Given the description of an element on the screen output the (x, y) to click on. 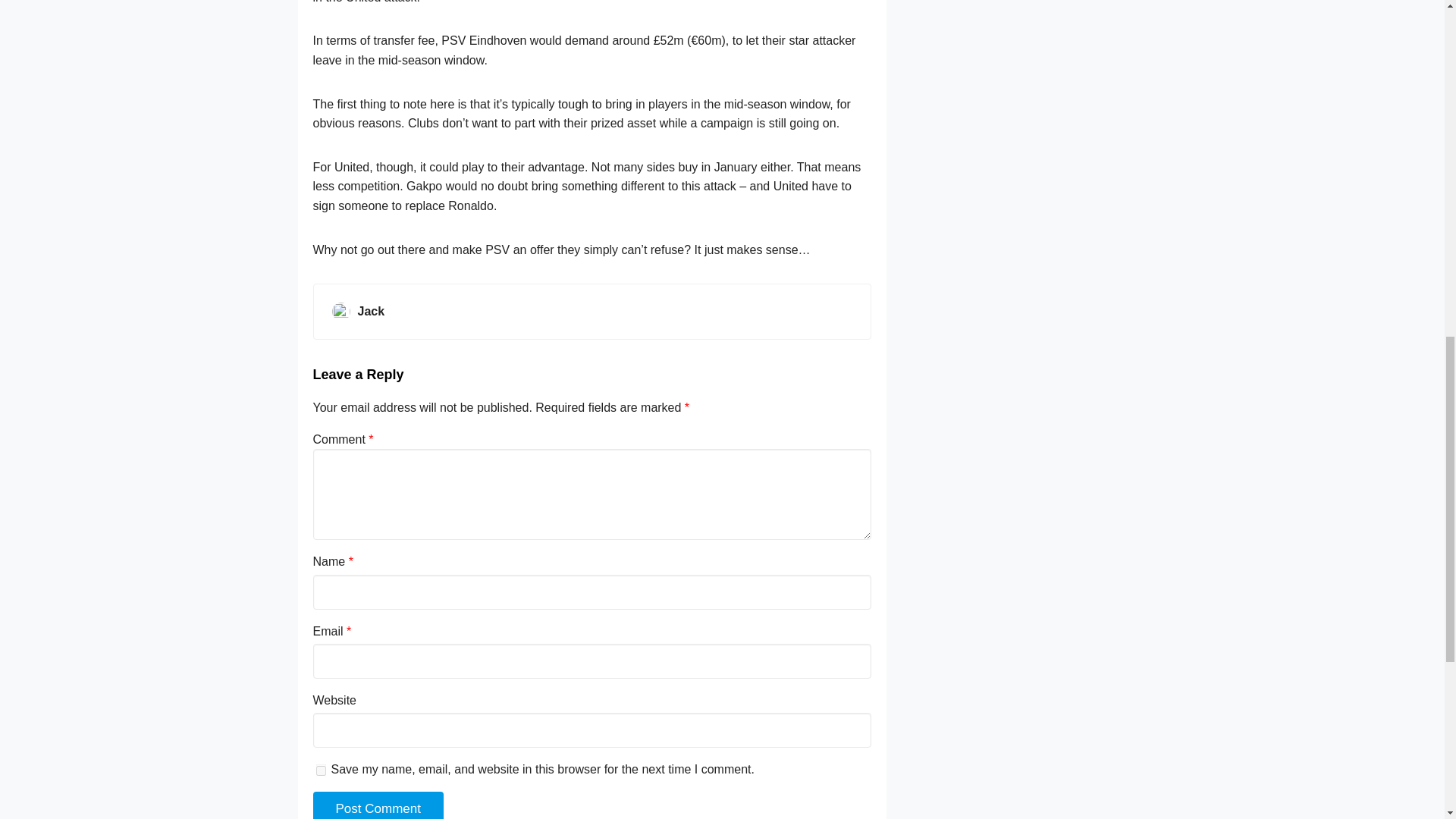
Post Comment (377, 805)
Post Comment (377, 805)
